Given the description of an element on the screen output the (x, y) to click on. 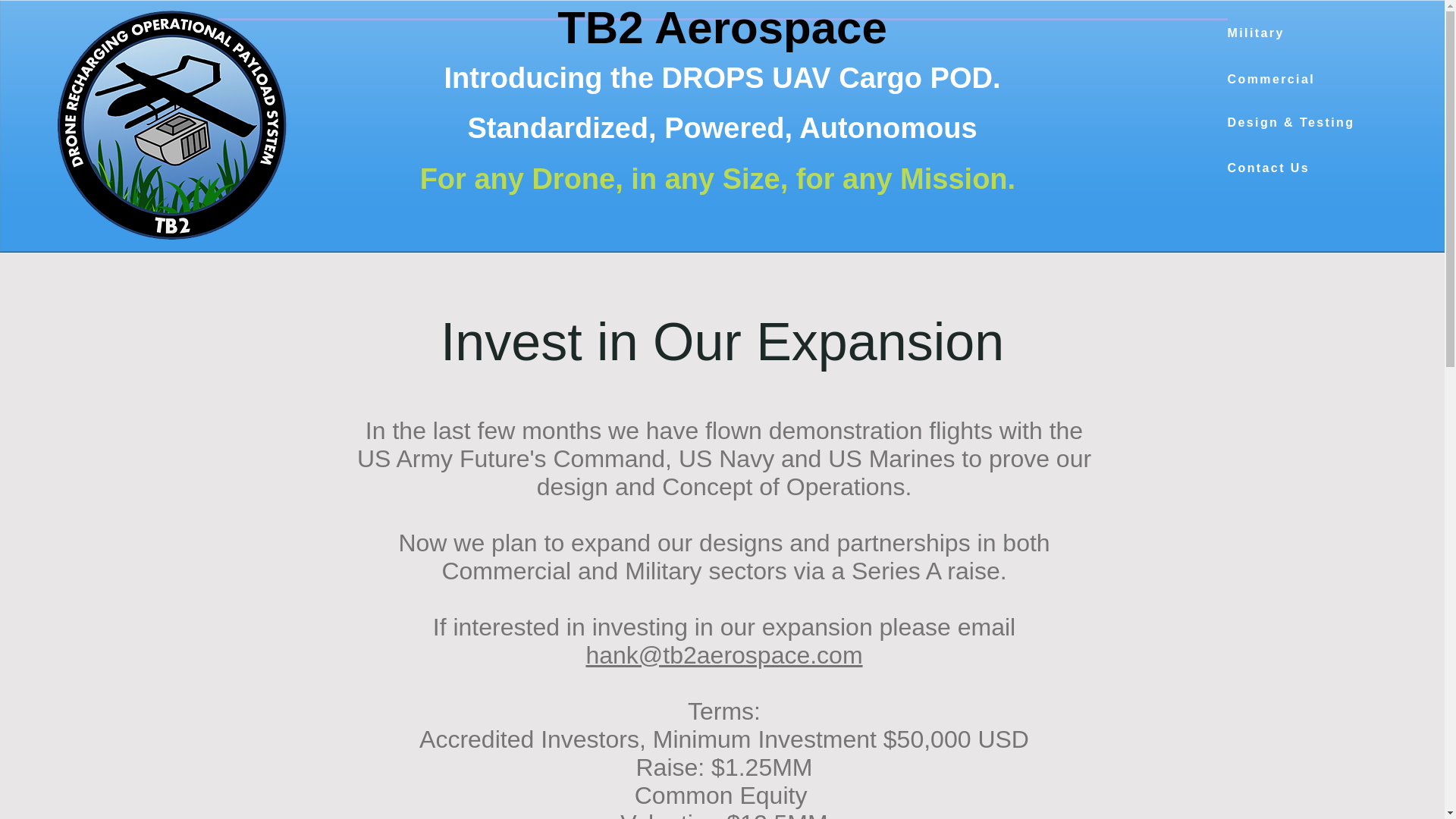
Contact Us (1281, 168)
Military (1281, 33)
Commercial (1281, 79)
